Given the description of an element on the screen output the (x, y) to click on. 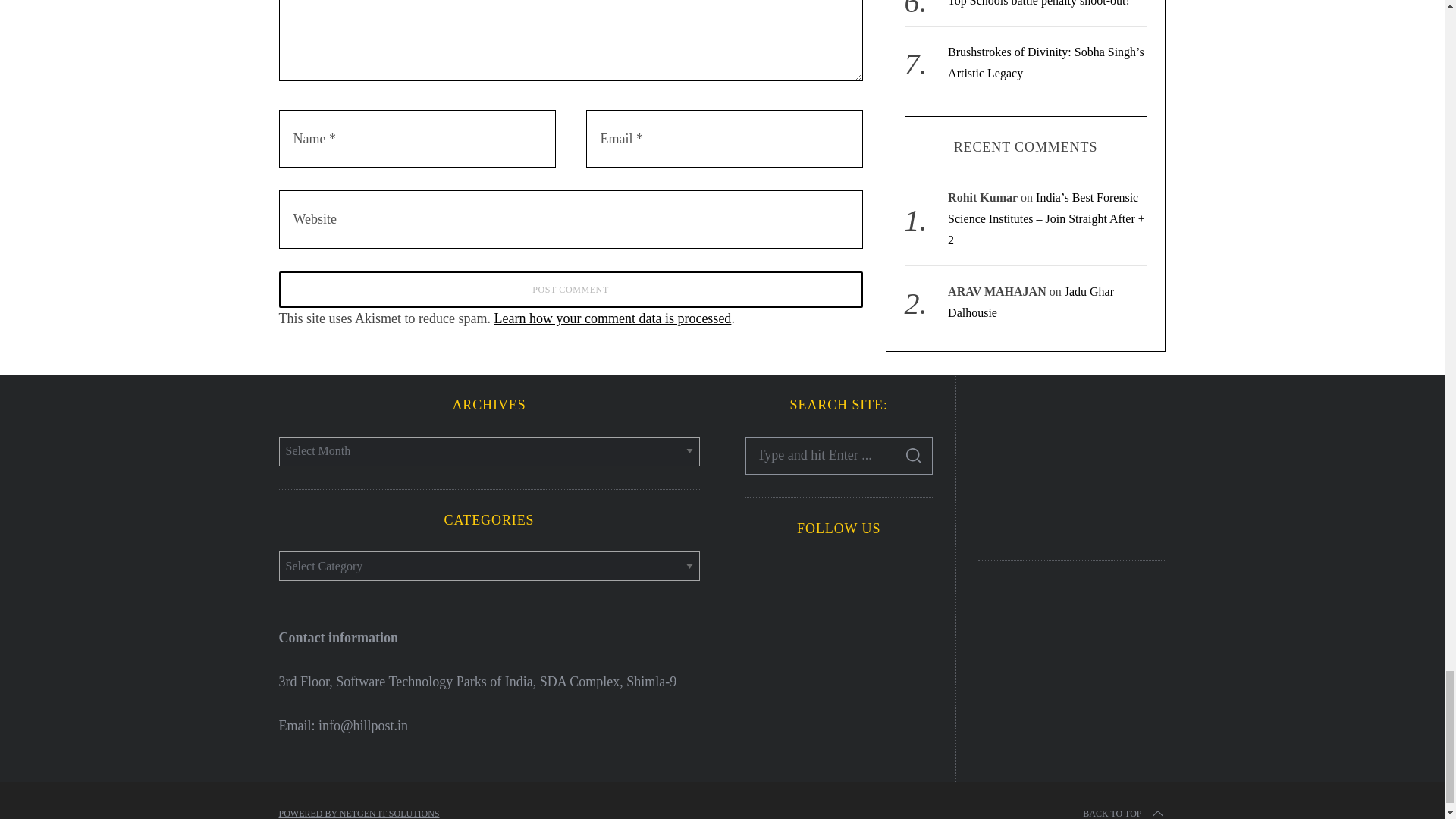
PepupHome Best Home improvement blog 2020 (1072, 464)
Post Comment (571, 289)
Learn how your comment data is processed (611, 318)
Post Comment (571, 289)
